Given the description of an element on the screen output the (x, y) to click on. 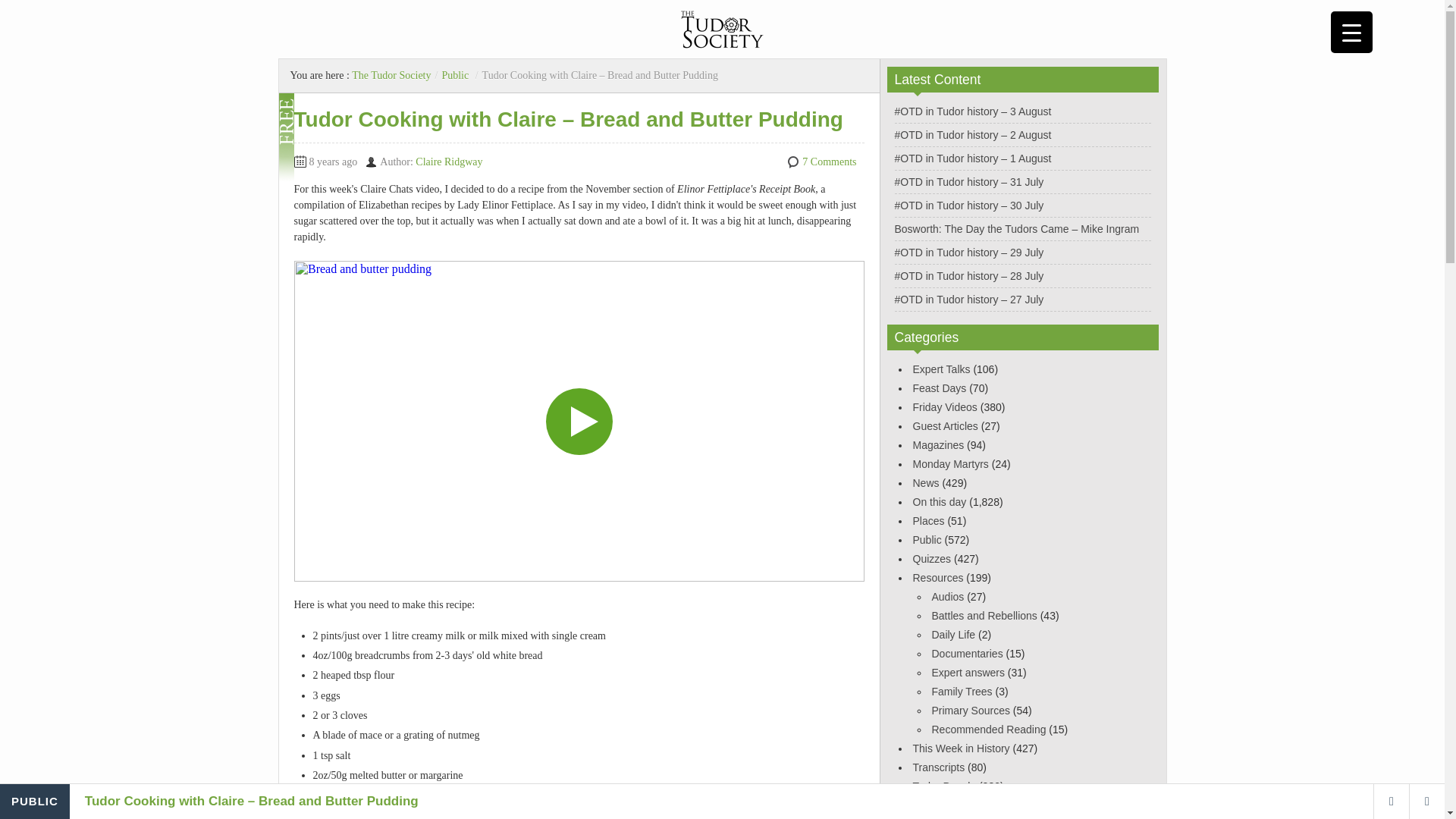
The Tudor Society (391, 75)
7 Comments (829, 161)
Claire Ridgway (447, 161)
Public (454, 75)
